Given the description of an element on the screen output the (x, y) to click on. 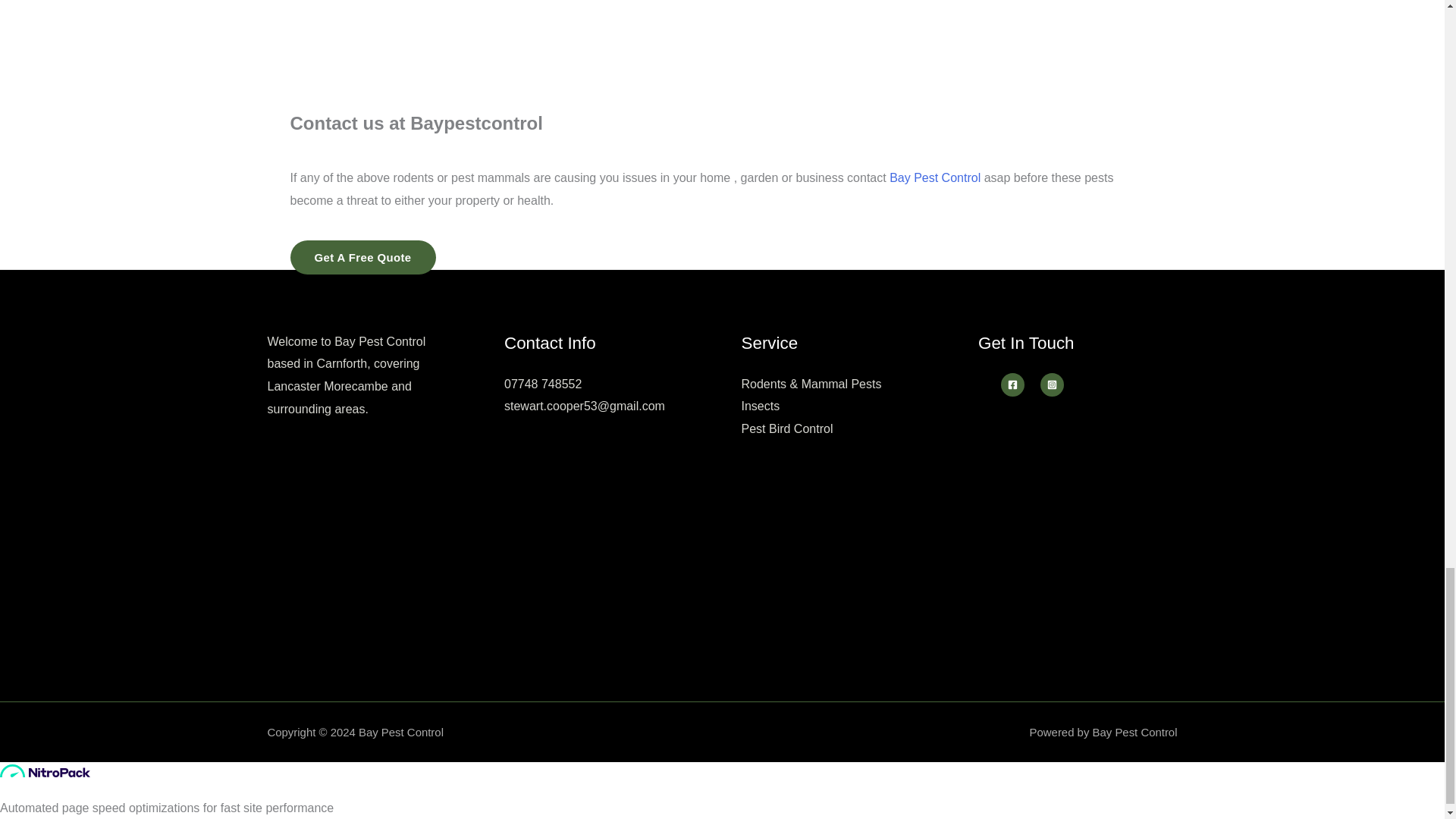
Pest Bird Control (786, 428)
Get A Free Quote (362, 257)
Bay Pest Control (934, 177)
Insects (760, 405)
